Given the description of an element on the screen output the (x, y) to click on. 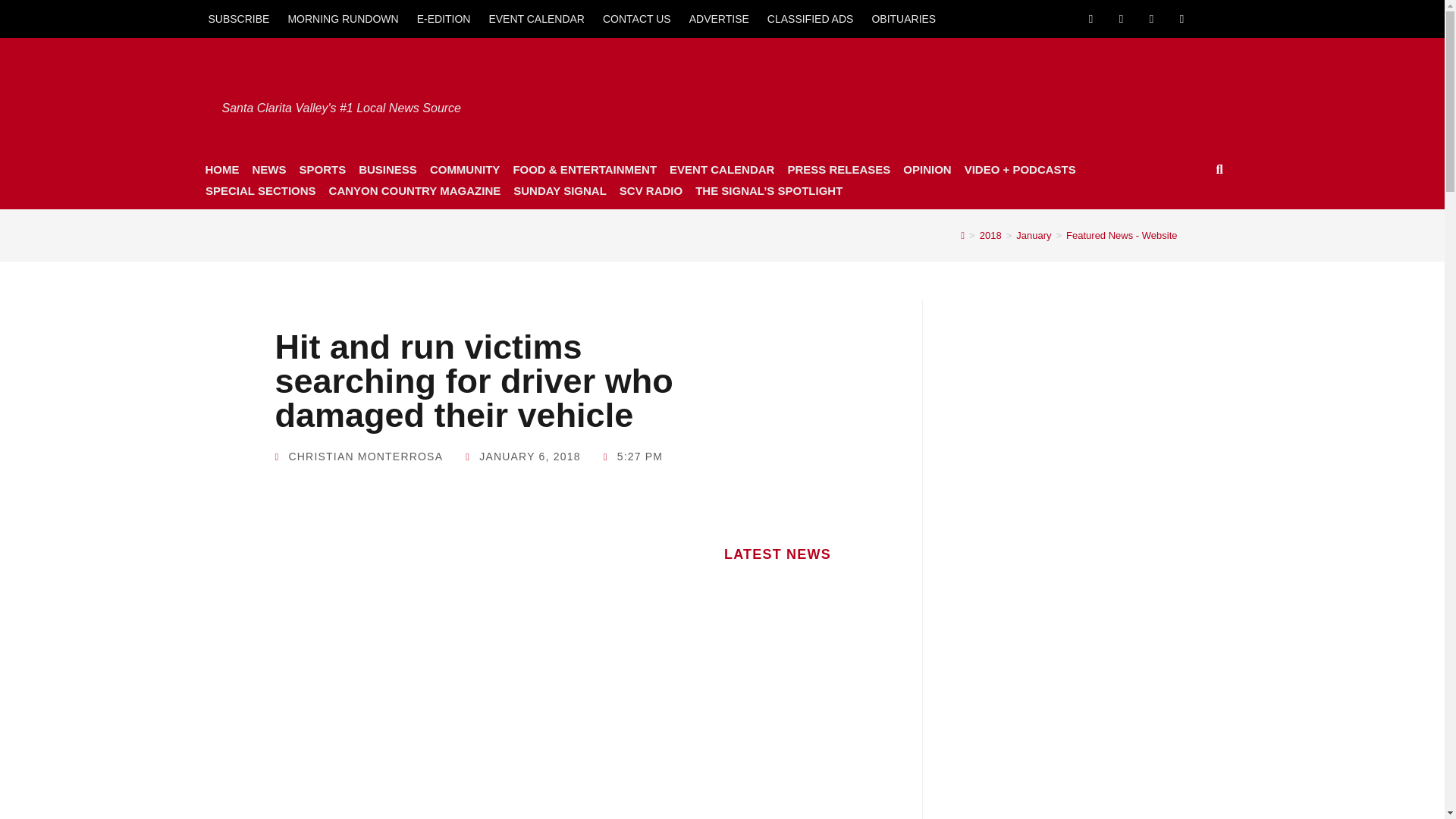
MORNING RUNDOWN (342, 18)
E-EDITION (443, 18)
NEWS (269, 169)
SPORTS (322, 169)
OBITUARIES (902, 18)
CLASSIFIED ADS (810, 18)
ADVERTISE (718, 18)
SUBSCRIBE (238, 18)
CONTACT US (636, 18)
HOME (221, 169)
EVENT CALENDAR (536, 18)
